Given the description of an element on the screen output the (x, y) to click on. 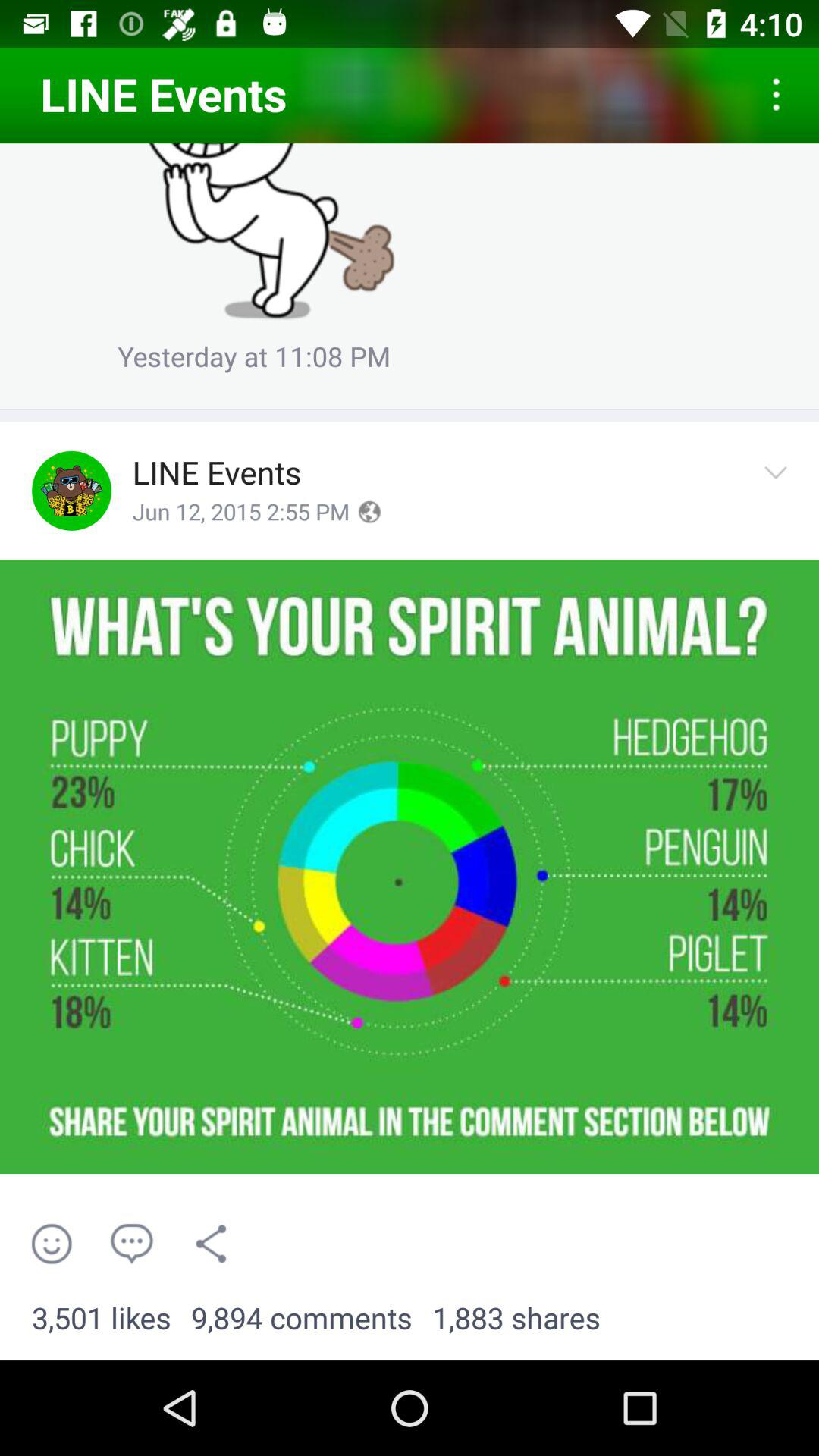
set timezone (368, 512)
